Given the description of an element on the screen output the (x, y) to click on. 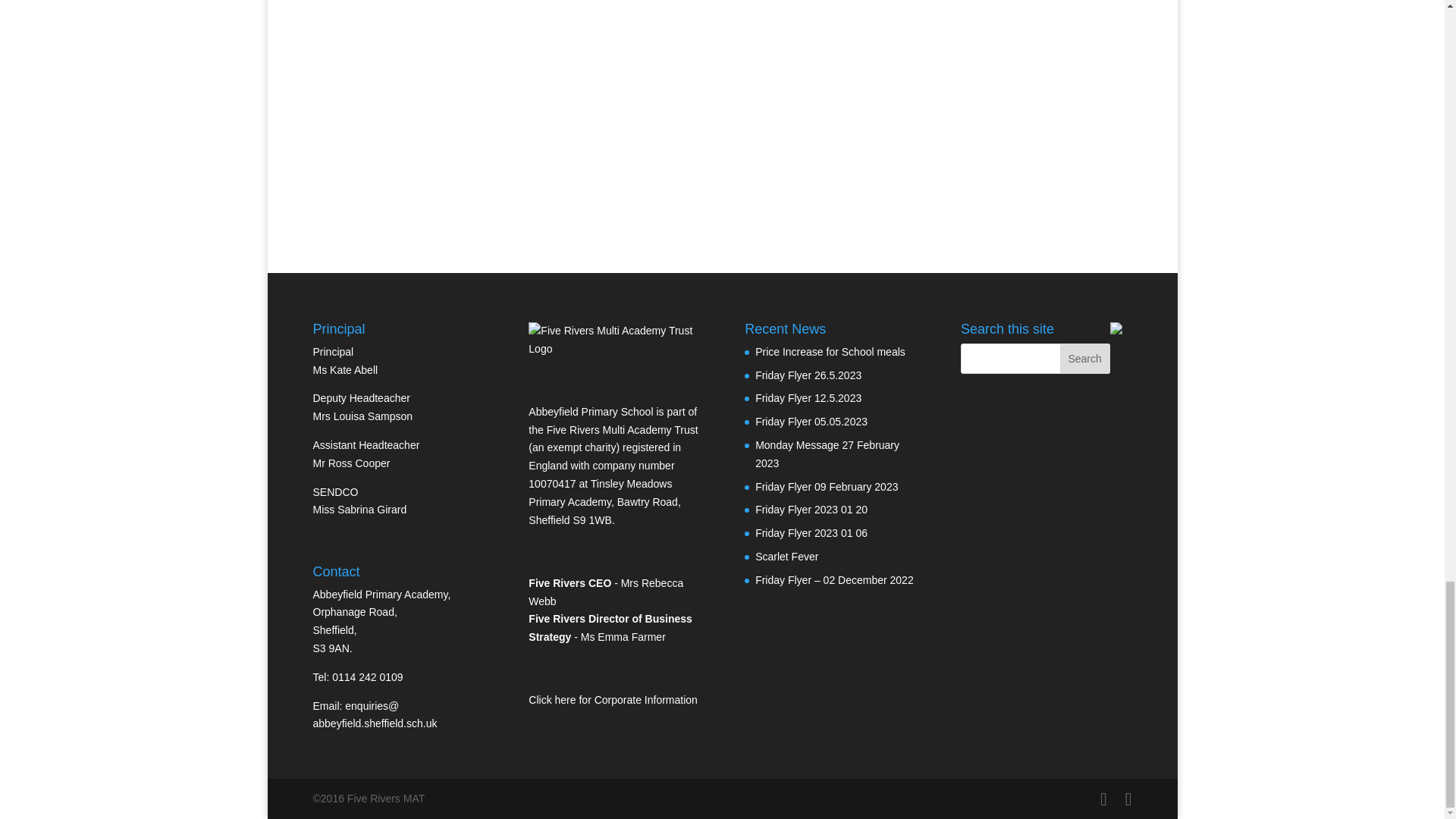
Search (1084, 358)
WEsbite example 2 (829, 105)
